Given the description of an element on the screen output the (x, y) to click on. 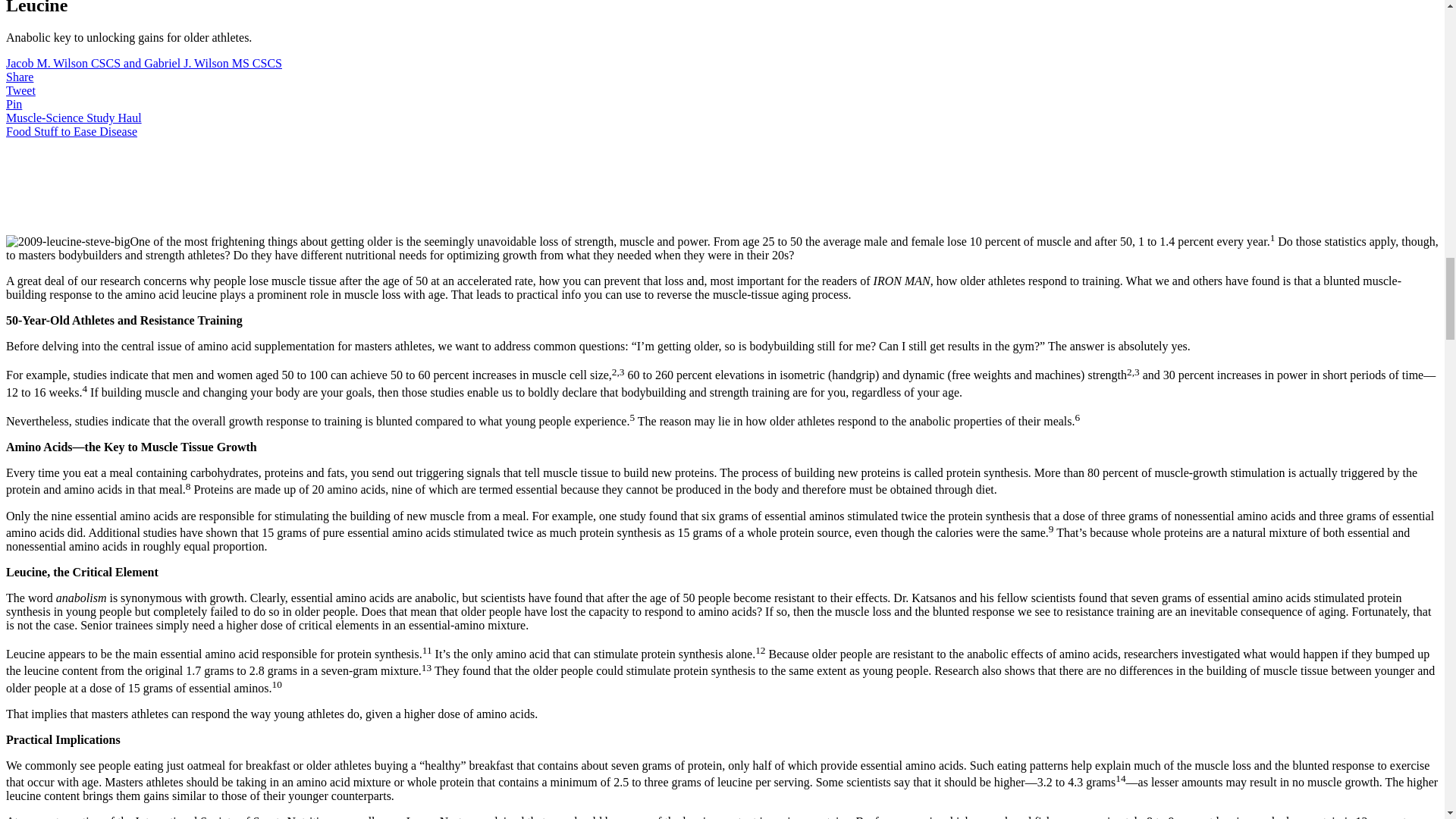
Steve Holman (68, 241)
Posts by Jacob M. Wilson CSCS and Gabriel J. Wilson MS CSCS (143, 62)
